Given the description of an element on the screen output the (x, y) to click on. 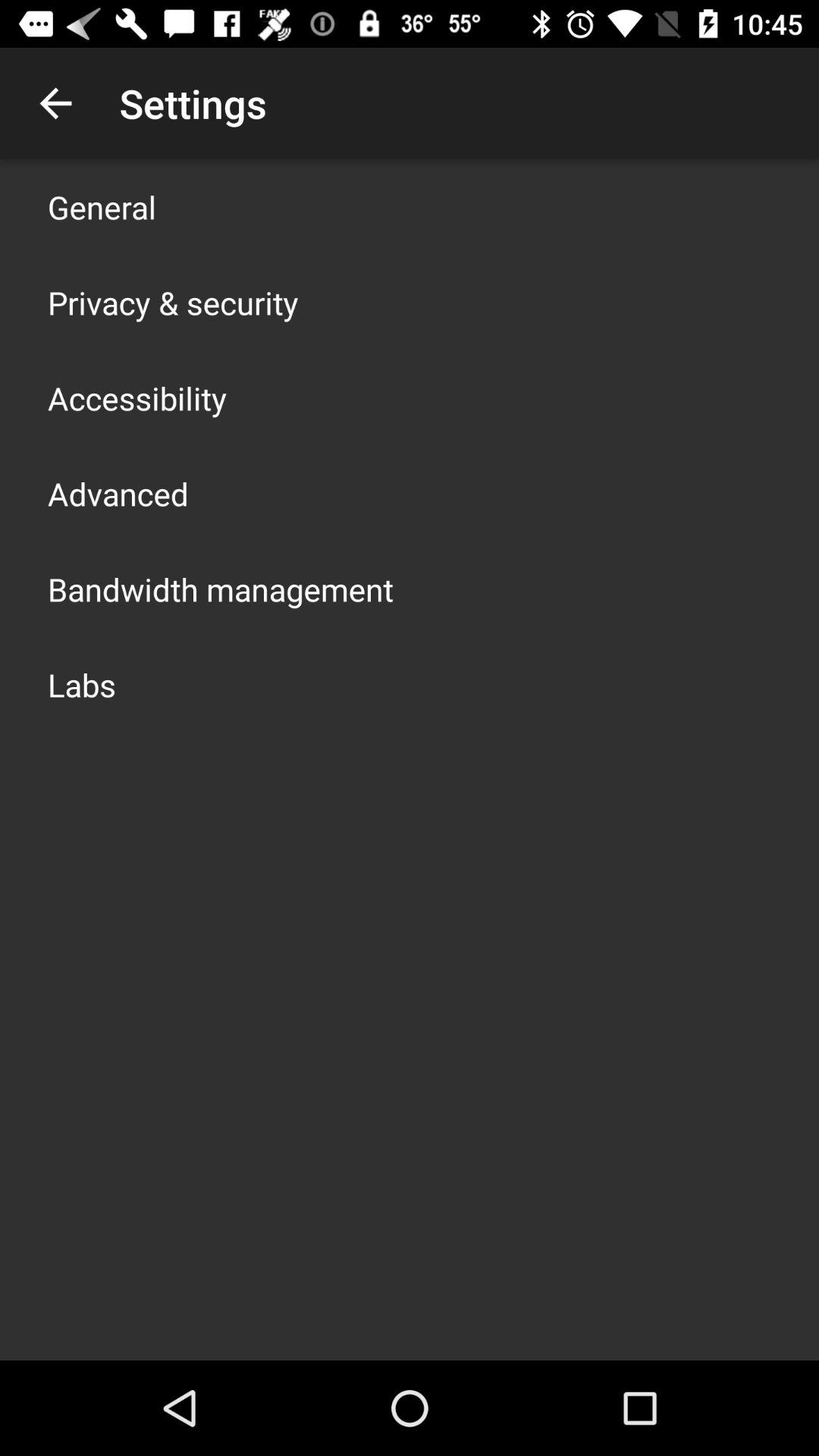
click icon below privacy & security item (136, 397)
